Given the description of an element on the screen output the (x, y) to click on. 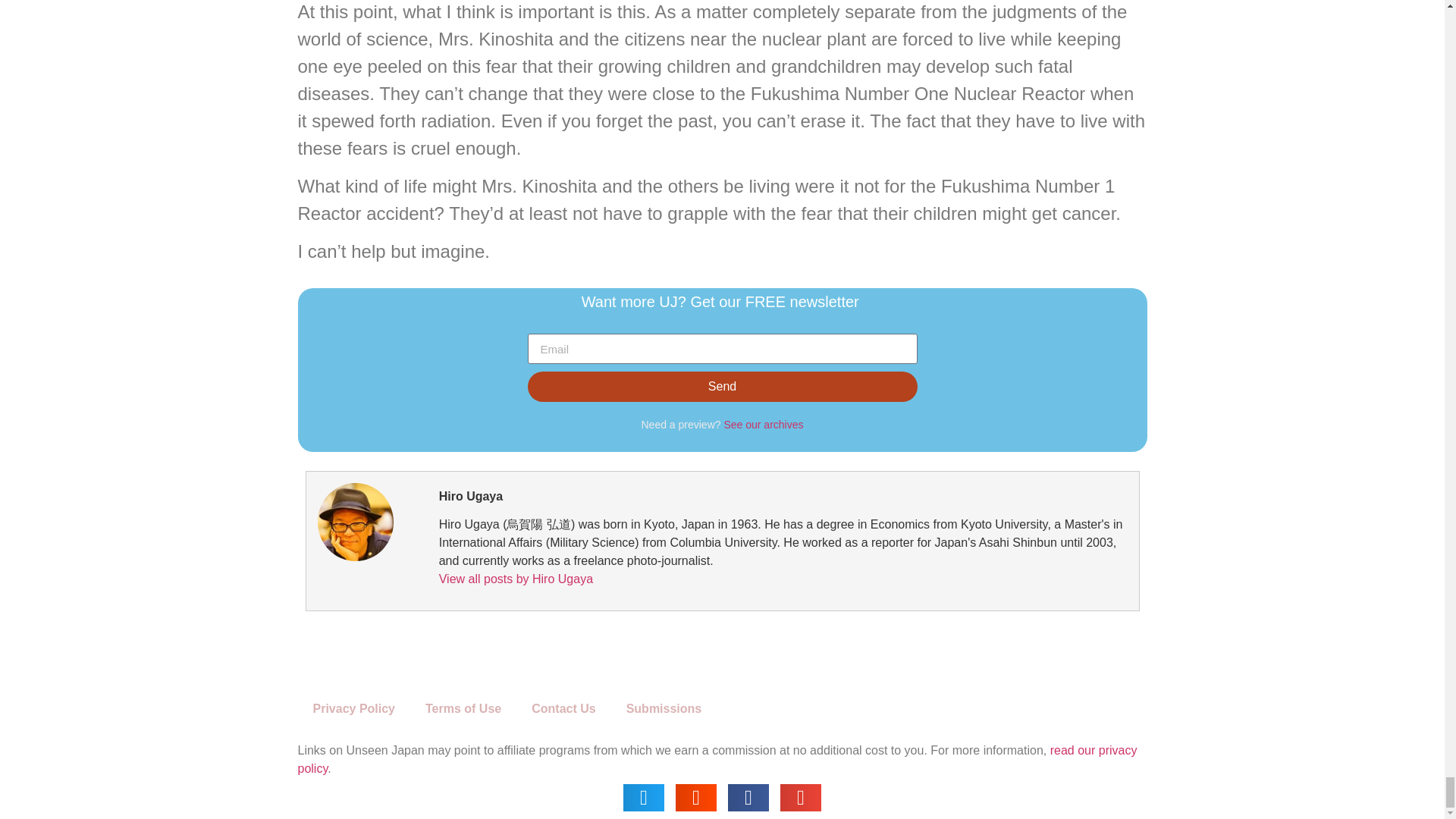
Terms of Use (463, 708)
Contact Us (563, 708)
Submissions (664, 708)
Send (722, 386)
View all posts by Hiro Ugaya (515, 578)
See our archives (763, 424)
Privacy Policy (353, 708)
